Given the description of an element on the screen output the (x, y) to click on. 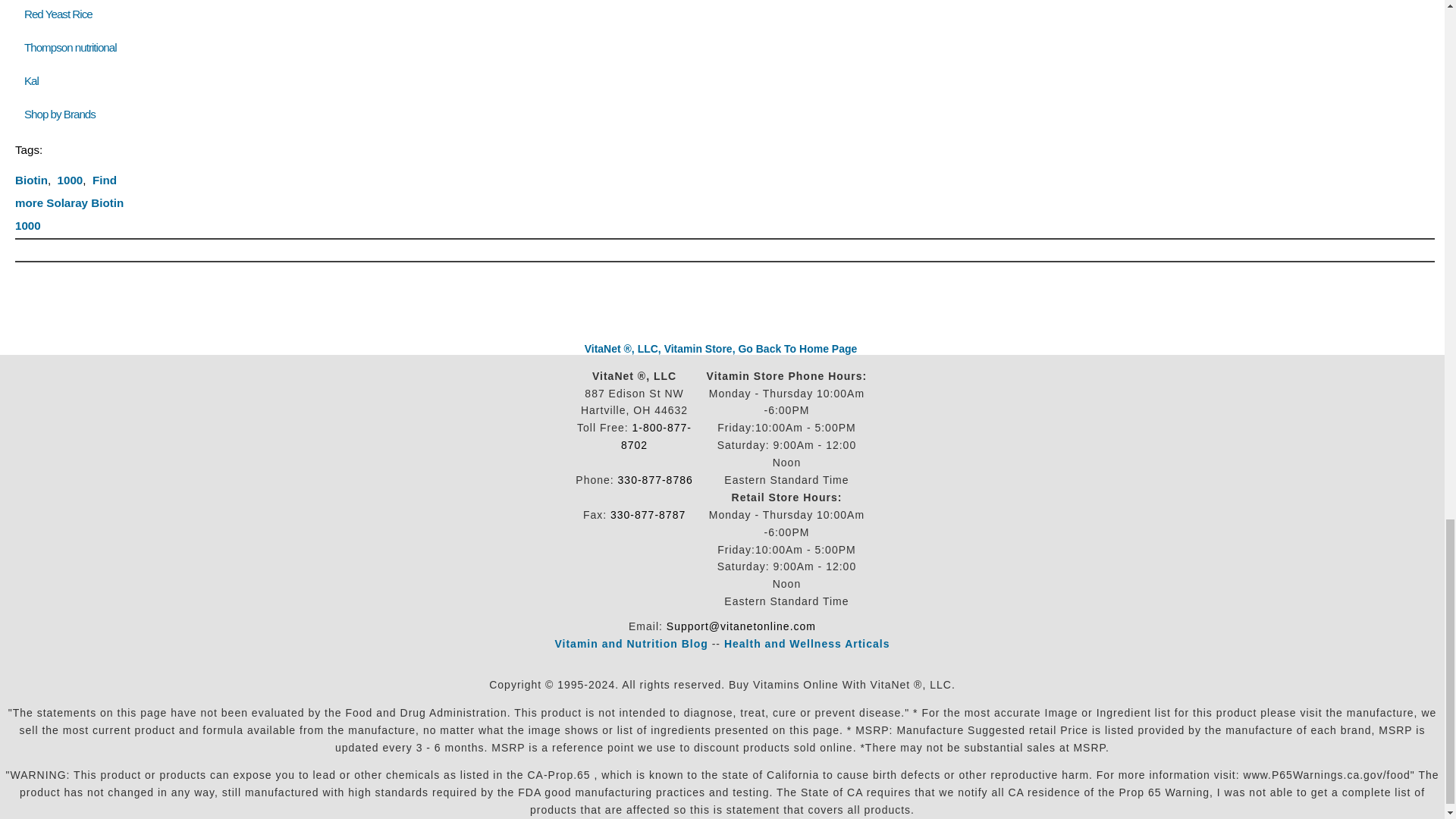
Find more Solaray Biotin 1000 (68, 202)
Kal Brand Products (31, 80)
Shop by Brand Complete list (62, 113)
Thompson Nutritional Products (70, 47)
Search for: 1000 (70, 179)
red yeast rice extract (58, 13)
Search for: Biotin (31, 179)
VitaNet Home Page Link (721, 348)
